Given the description of an element on the screen output the (x, y) to click on. 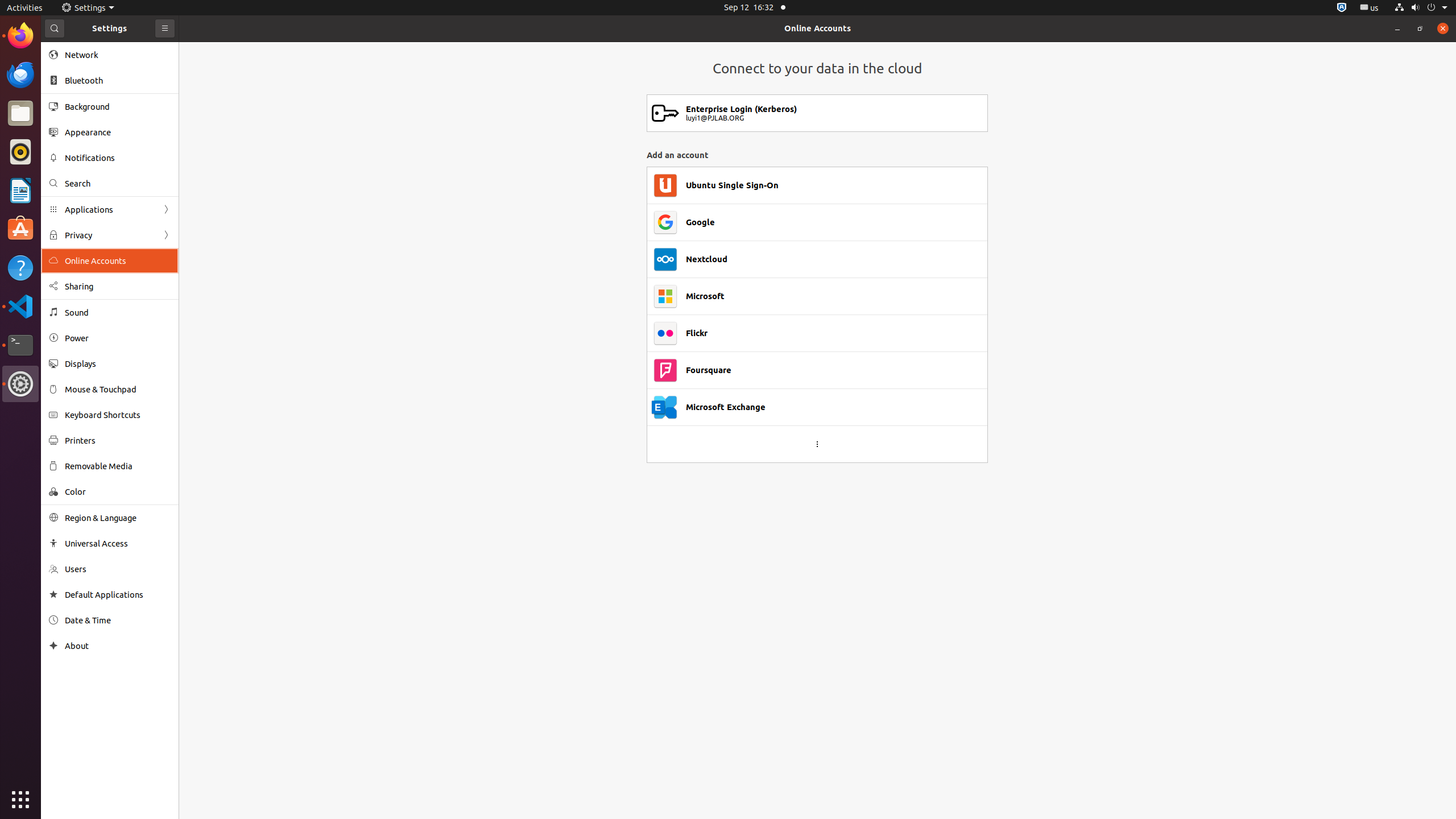
Color Element type: label (117, 491)
Connect to your data in the cloud Element type: label (816, 68)
Restore Element type: push-button (1419, 27)
Flickr Element type: label (696, 333)
Mouse & Touchpad Element type: label (117, 389)
